Given the description of an element on the screen output the (x, y) to click on. 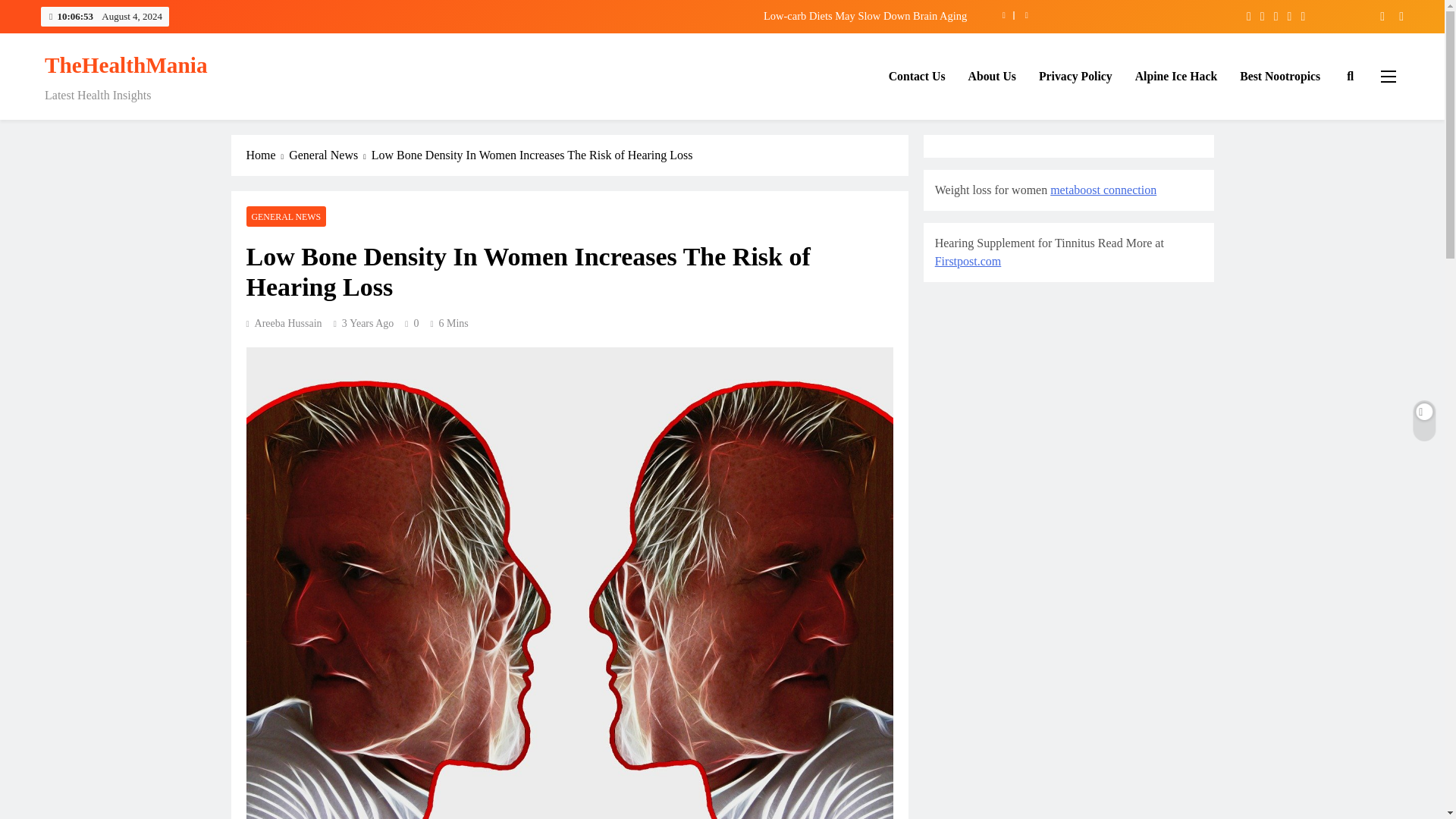
About Us (991, 76)
GENERAL NEWS (286, 216)
Low-carb Diets May Slow Down Brain Aging (639, 15)
General News (329, 155)
Alpine Ice Hack (1176, 76)
Home (267, 155)
Best Nootropics (1280, 76)
Low-carb Diets May Slow Down Brain Aging (639, 15)
Contact Us (916, 76)
Privacy Policy (1075, 76)
